Given the description of an element on the screen output the (x, y) to click on. 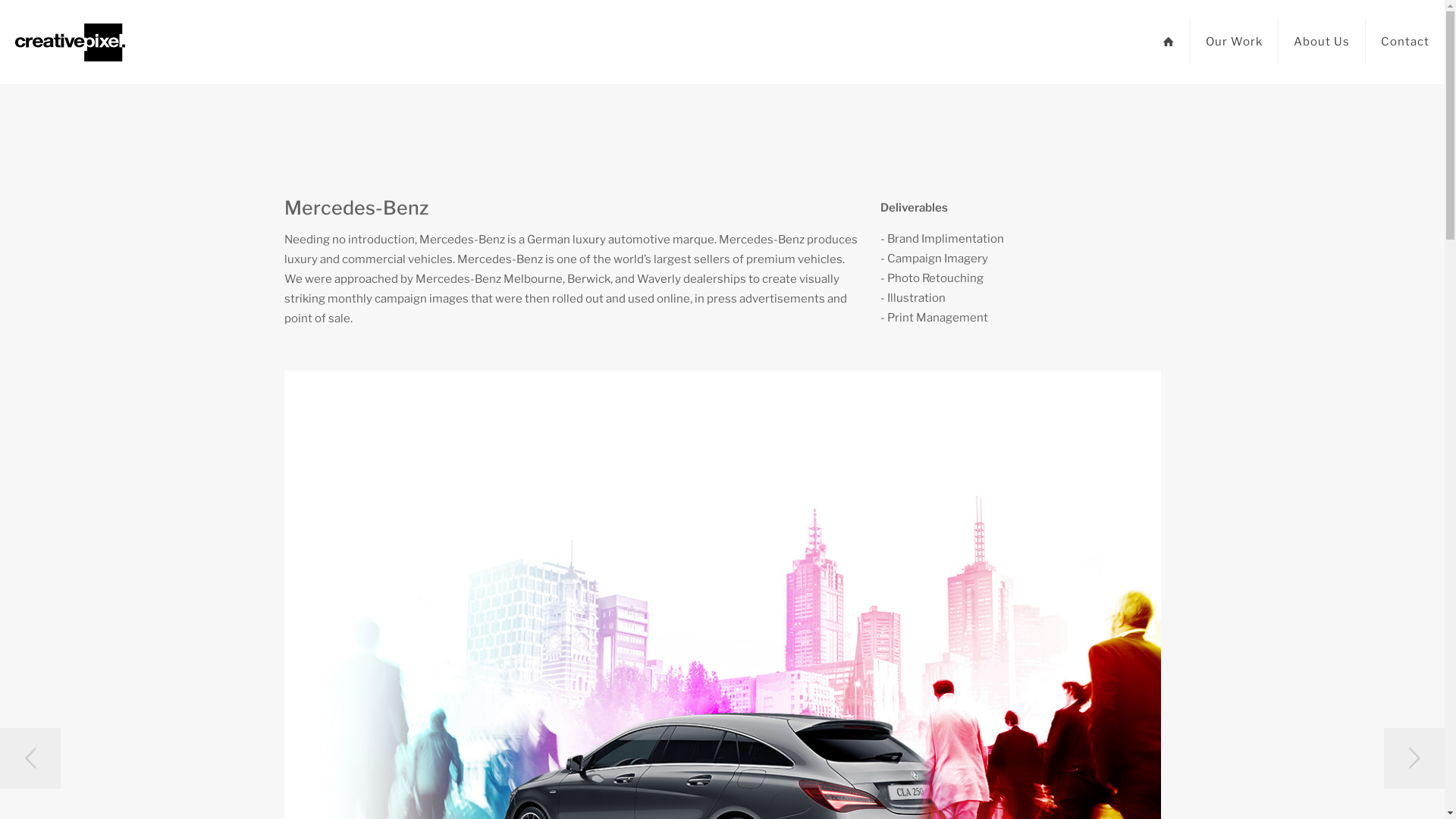
Our Work Element type: text (1234, 41)
Contact Element type: text (1404, 41)
About Us Element type: text (1321, 41)
Graphic Design Agency Element type: hover (70, 41)
